Given the description of an element on the screen output the (x, y) to click on. 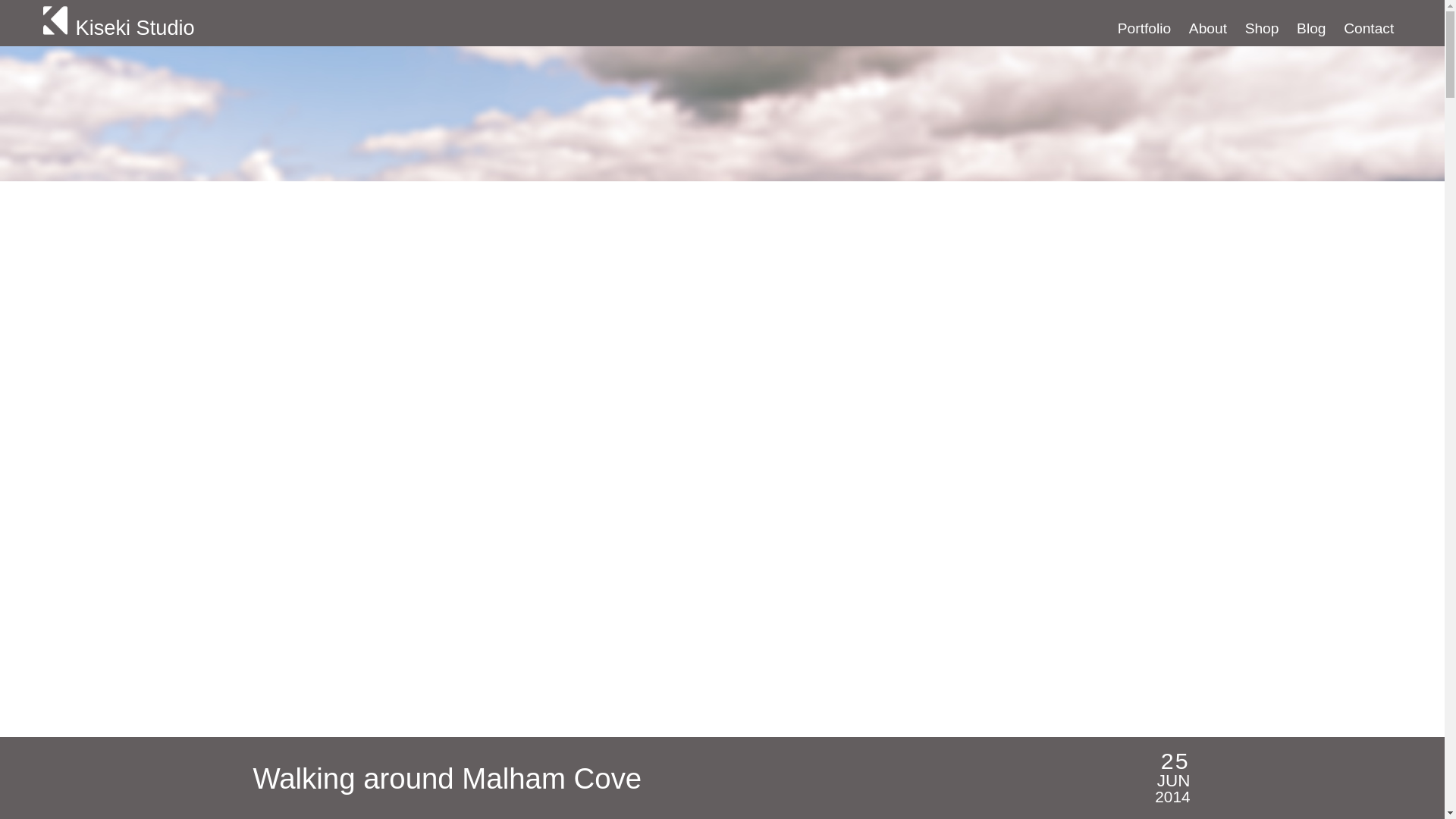
About (1208, 28)
Portfolio (1144, 28)
Shop (1261, 28)
Blog (1310, 28)
Contact (1368, 28)
Kiseki Studio (347, 22)
